Given the description of an element on the screen output the (x, y) to click on. 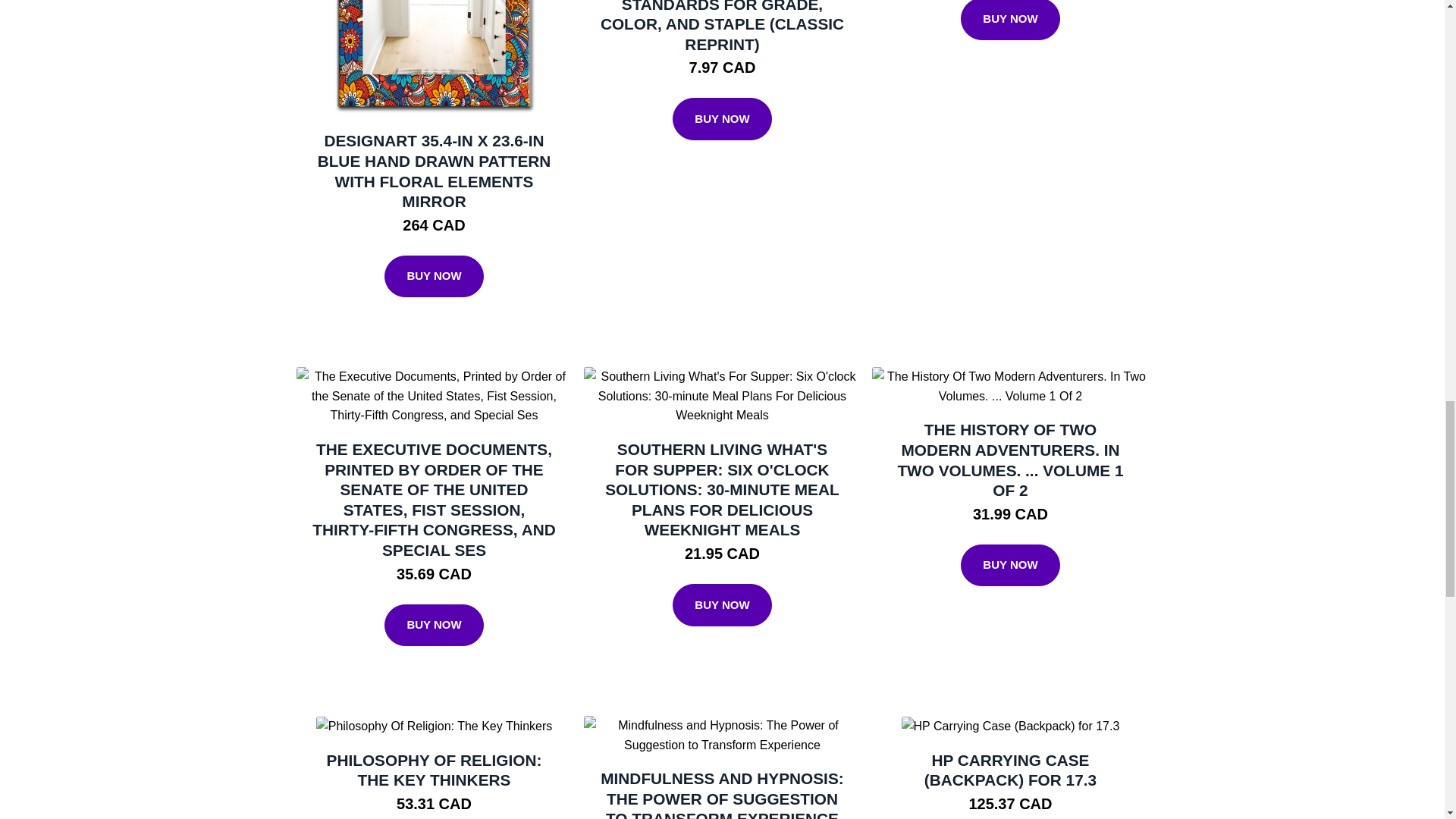
BUY NOW (721, 118)
BUY NOW (433, 276)
BUY NOW (1009, 20)
